Given the description of an element on the screen output the (x, y) to click on. 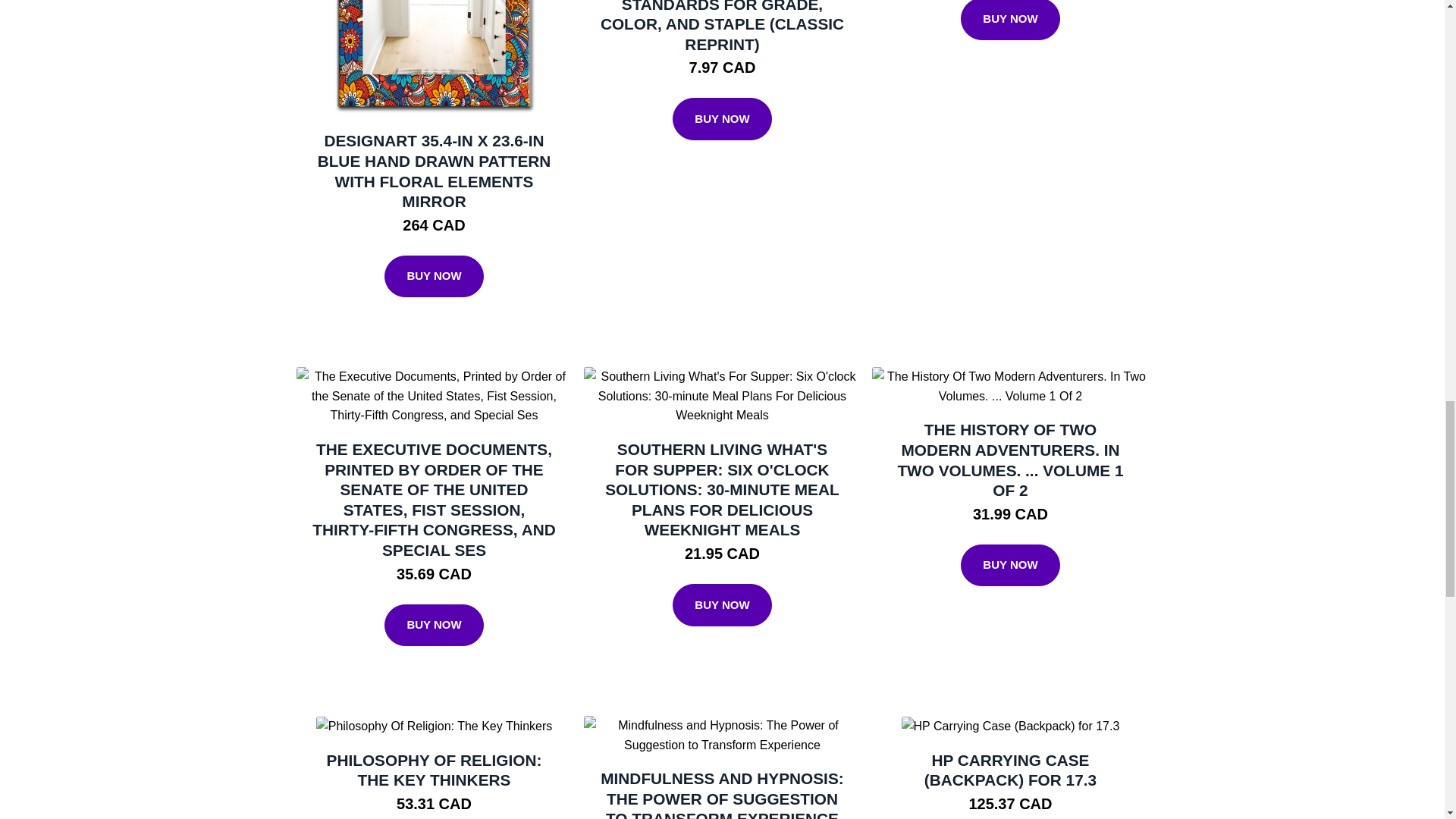
BUY NOW (721, 118)
BUY NOW (433, 276)
BUY NOW (1009, 20)
